Given the description of an element on the screen output the (x, y) to click on. 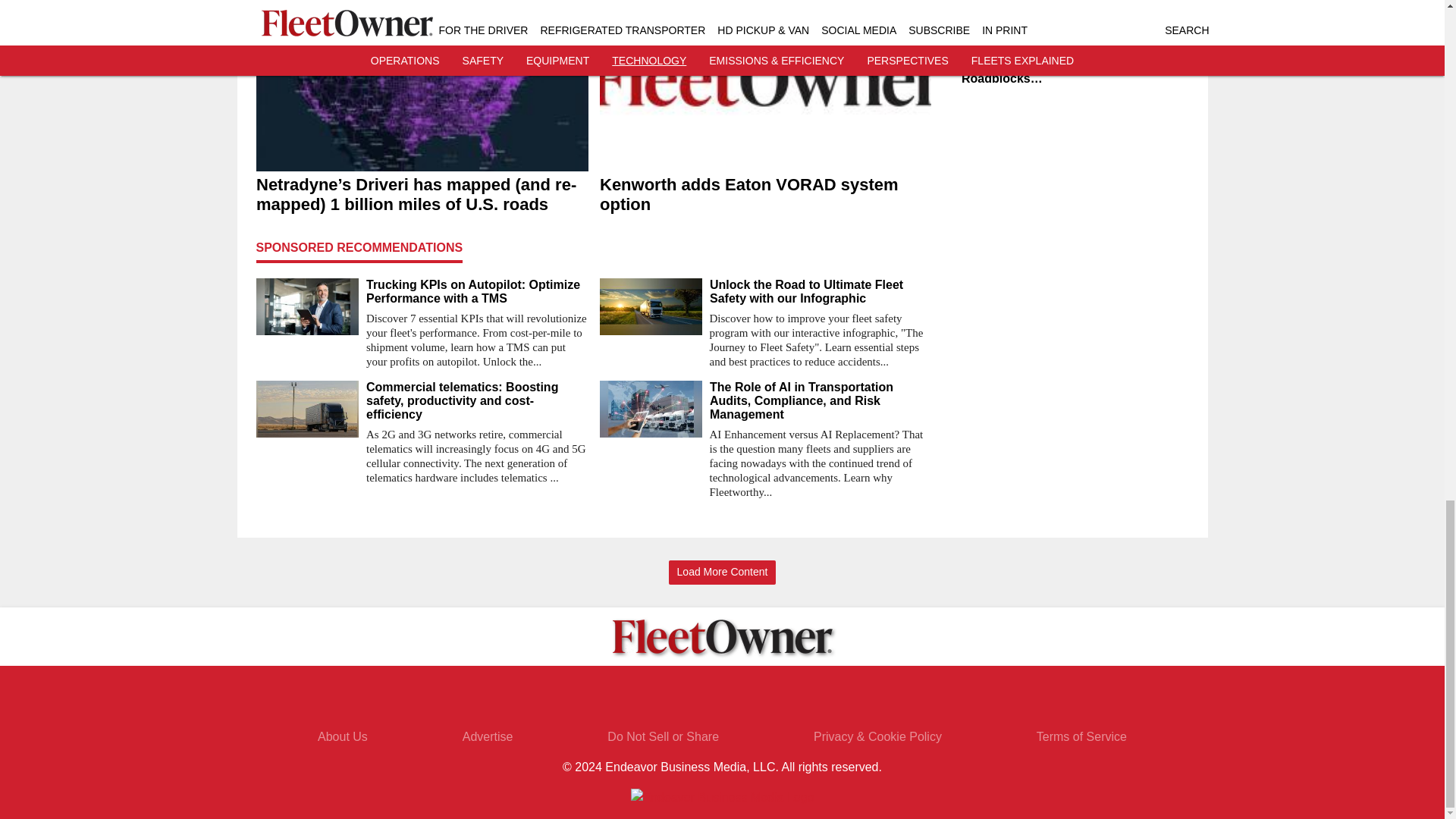
Trucking KPIs on Autopilot: Optimize Performance with a TMS (476, 291)
Kenworth adds Eaton VORAD system option (764, 195)
